Given the description of an element on the screen output the (x, y) to click on. 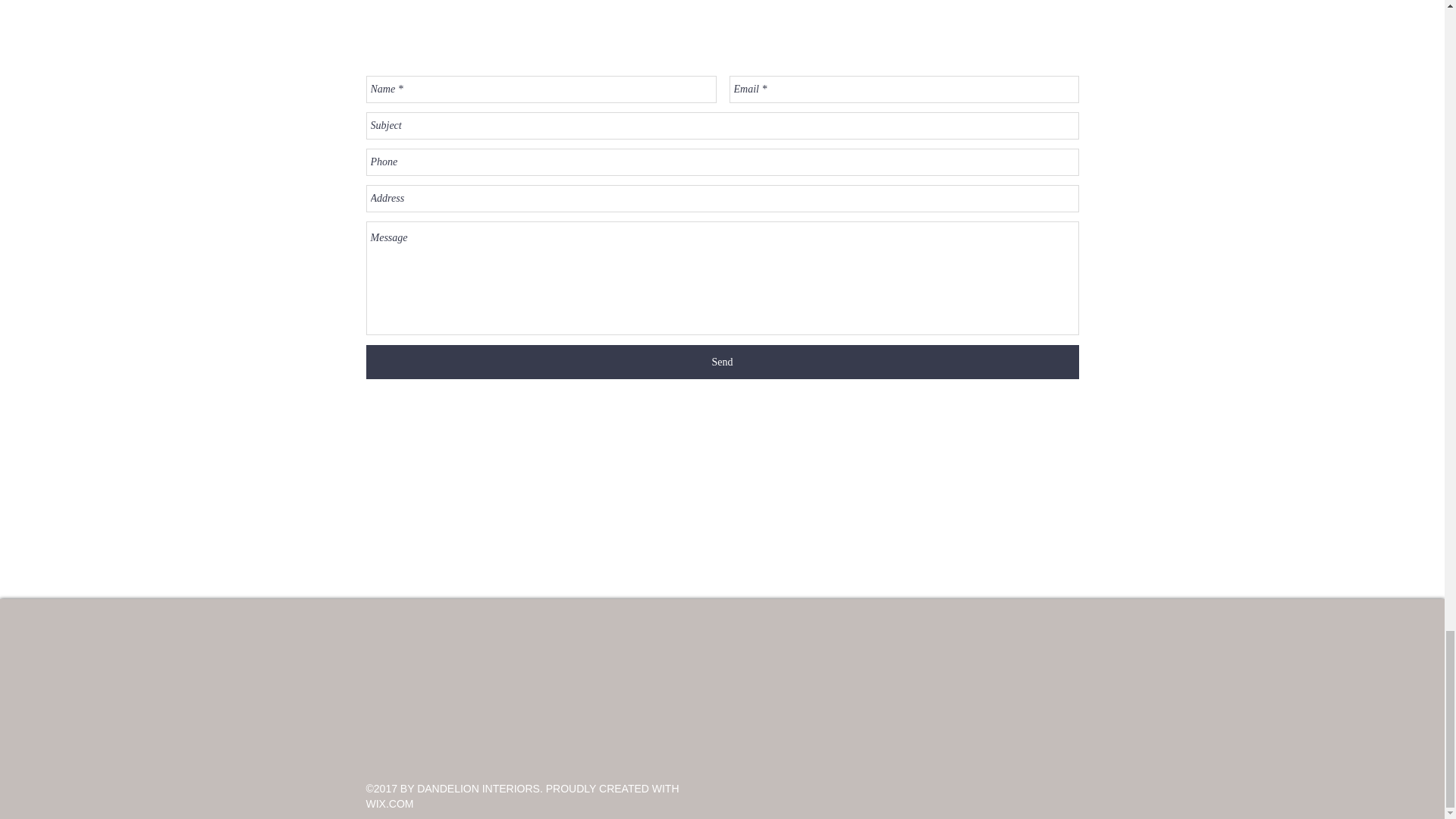
Send (721, 361)
